Given the description of an element on the screen output the (x, y) to click on. 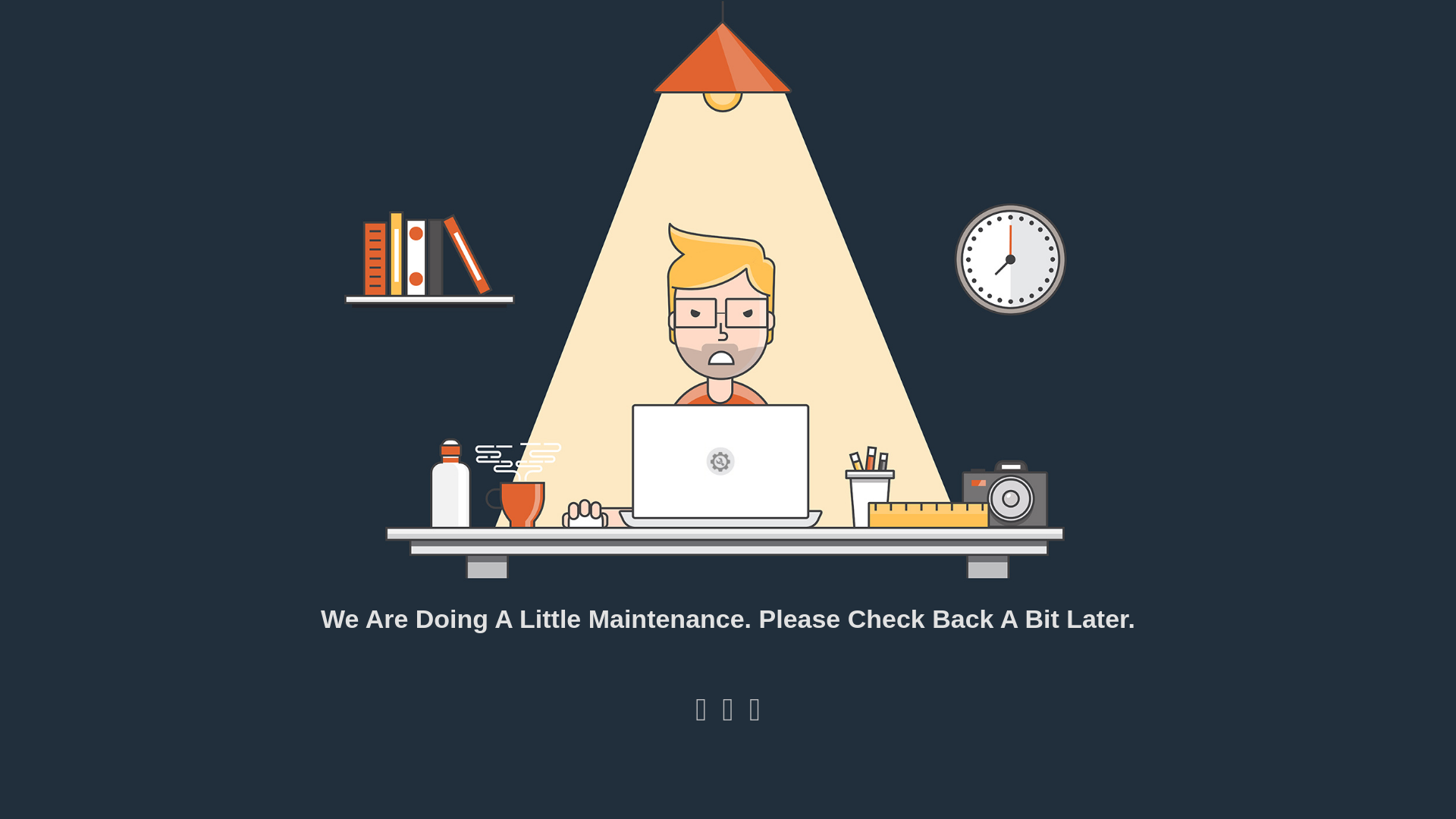
Instagram (727, 716)
Facebook (700, 716)
Email (754, 716)
